Given the description of an element on the screen output the (x, y) to click on. 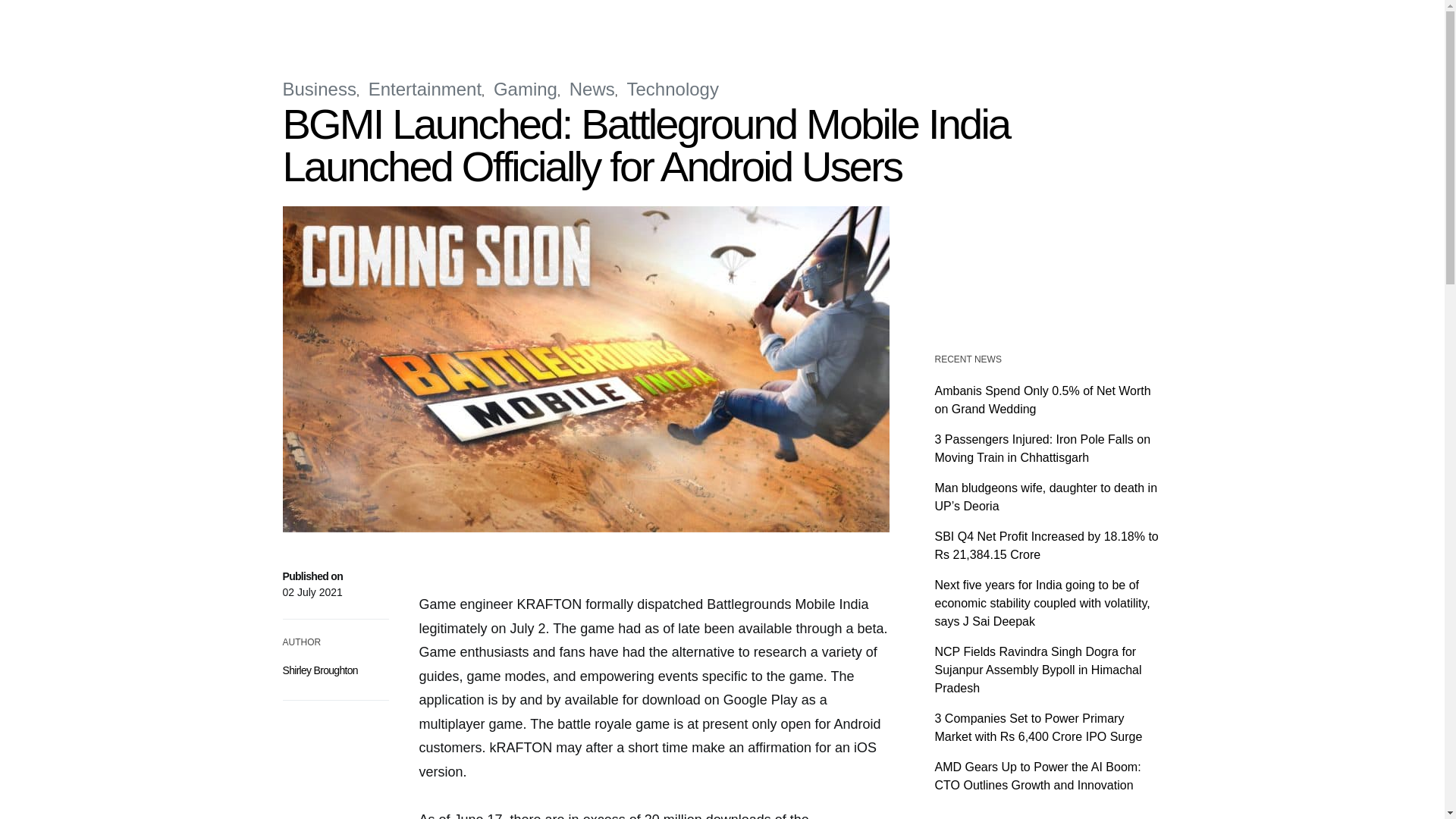
NewsNifty (315, 22)
BREAKING NEWS (449, 22)
BUSINESS (527, 22)
